Given the description of an element on the screen output the (x, y) to click on. 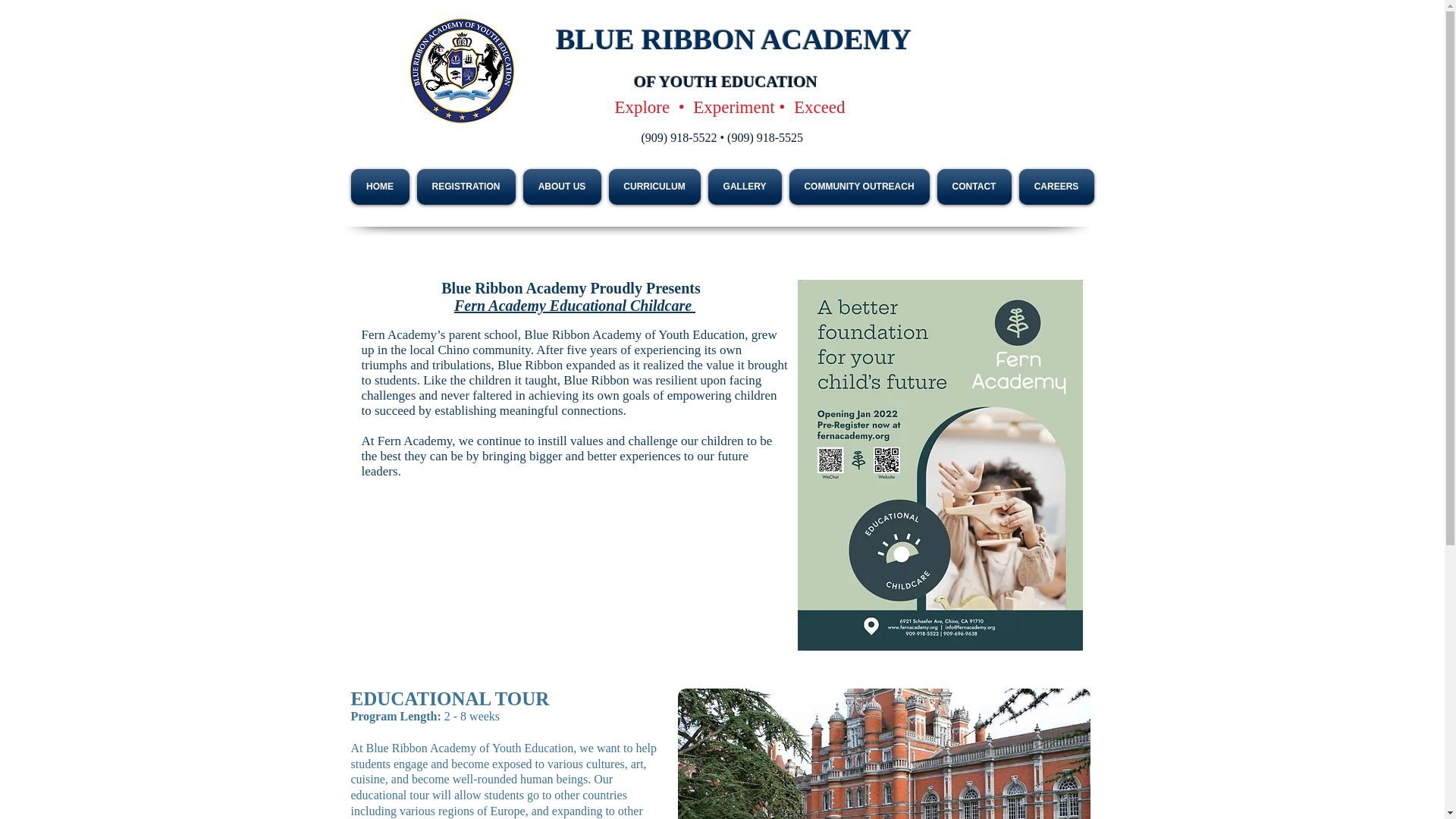
CONTACT (973, 186)
GALLERY (743, 186)
ABOUT US (561, 186)
OF YOUTH EDUCATION (724, 81)
CAREERS (1053, 186)
Fern Academy Educational Childcare  (574, 305)
CURRICULUM (654, 186)
REGISTRATION (465, 186)
HOME (381, 186)
COMMUNITY OUTREACH (859, 186)
BLUE RIBBON ACADEMY (733, 39)
